Given the description of an element on the screen output the (x, y) to click on. 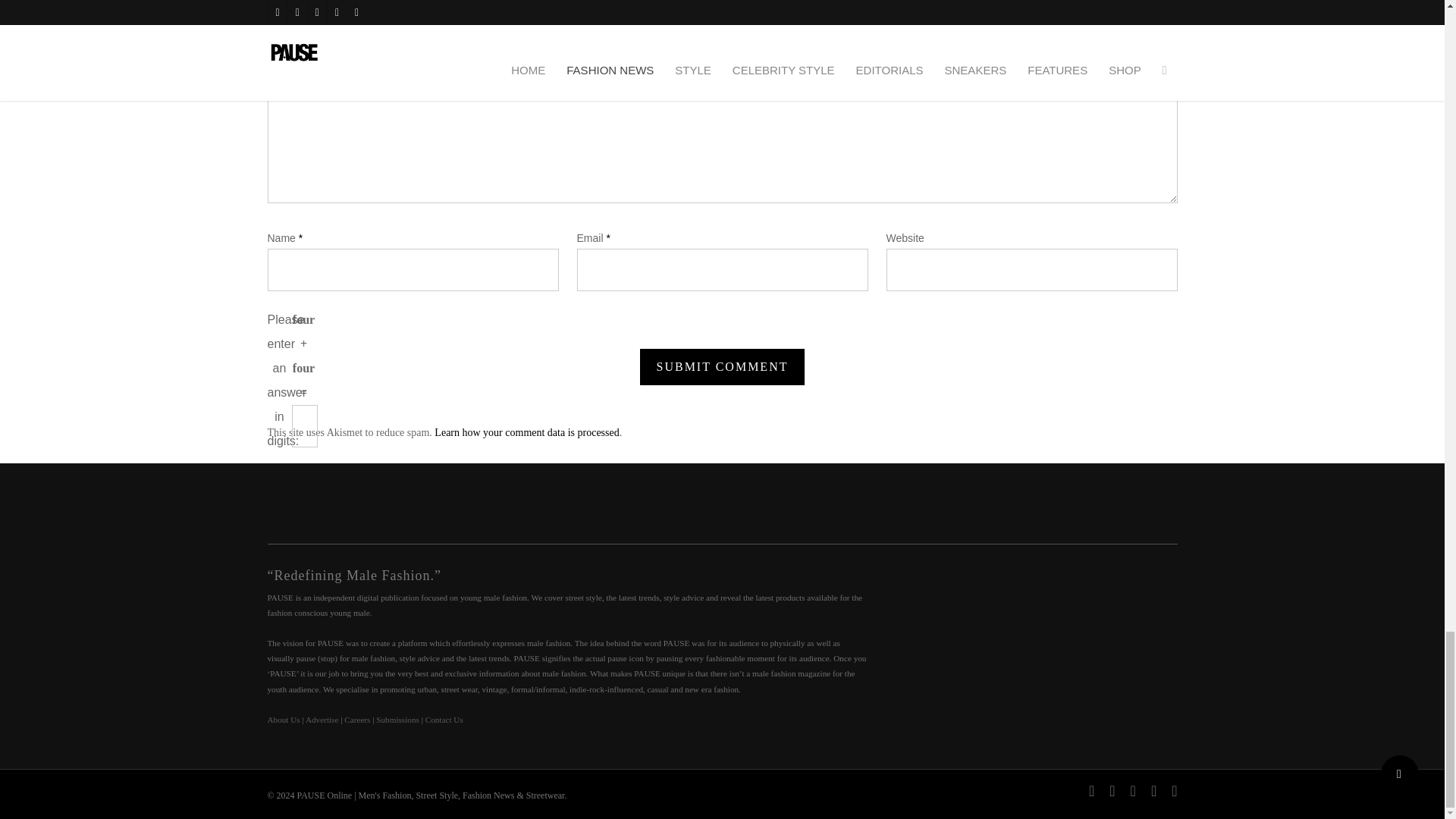
Submit Comment (722, 366)
